Given the description of an element on the screen output the (x, y) to click on. 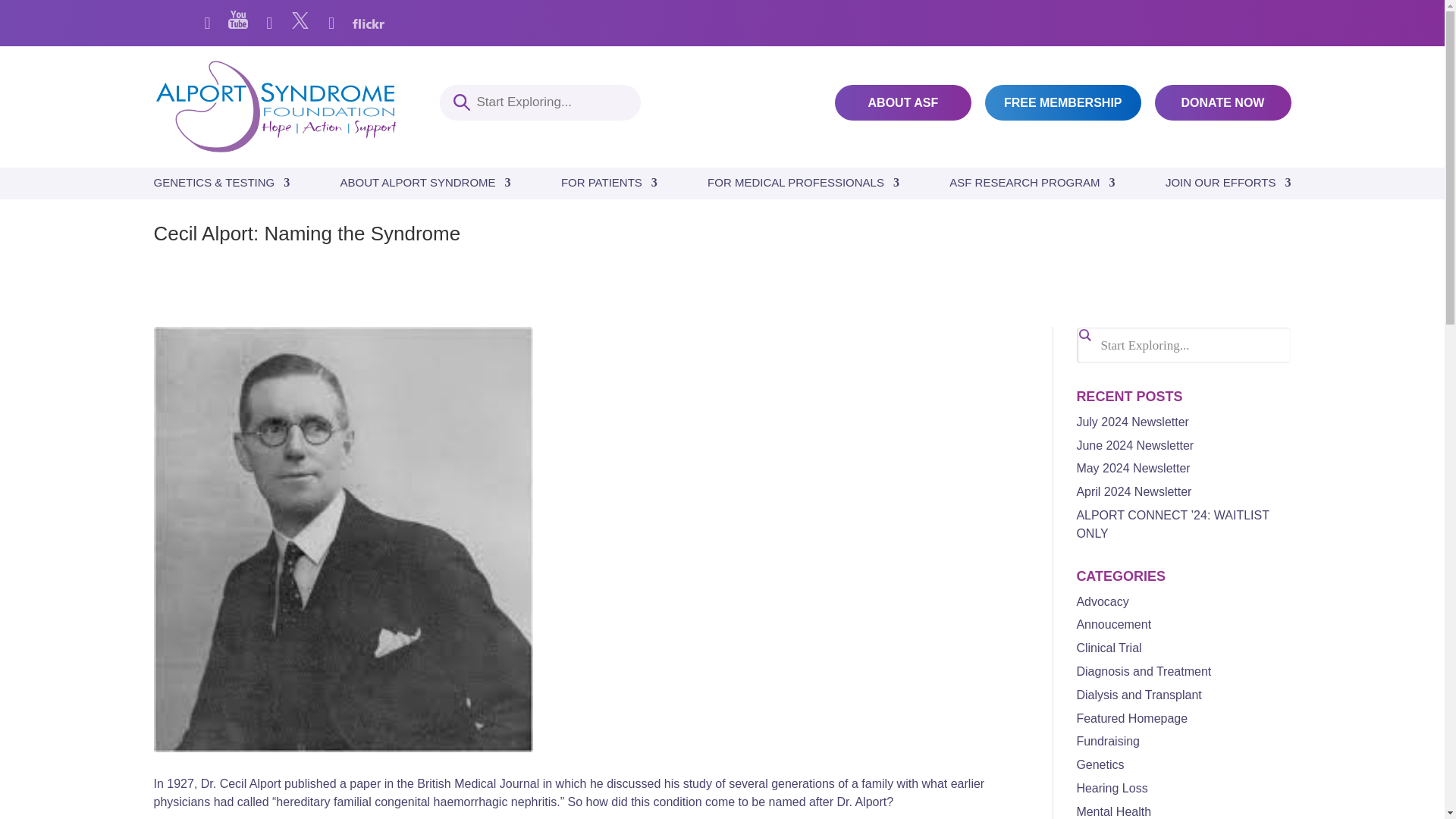
DONATE NOW (1222, 102)
ABOUT ASF (902, 102)
FREE MEMBERSHIP (1063, 102)
ABOUT ALPORT SYNDROME (425, 187)
